Given the description of an element on the screen output the (x, y) to click on. 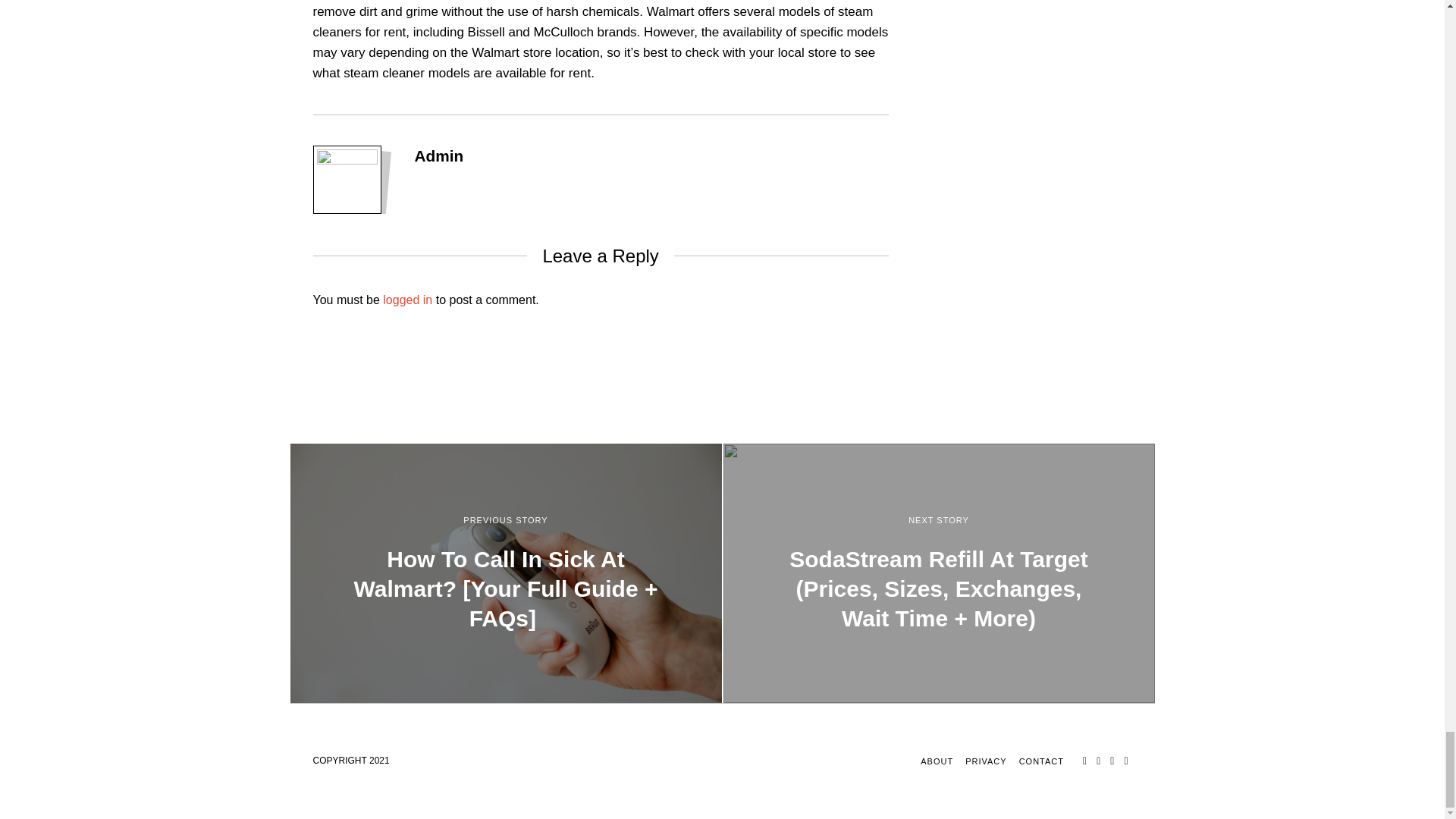
Instagram (1112, 761)
Admin (438, 155)
LinkedIn (1125, 761)
Twitter (1098, 761)
Facebook (1084, 761)
logged in (407, 299)
